Given the description of an element on the screen output the (x, y) to click on. 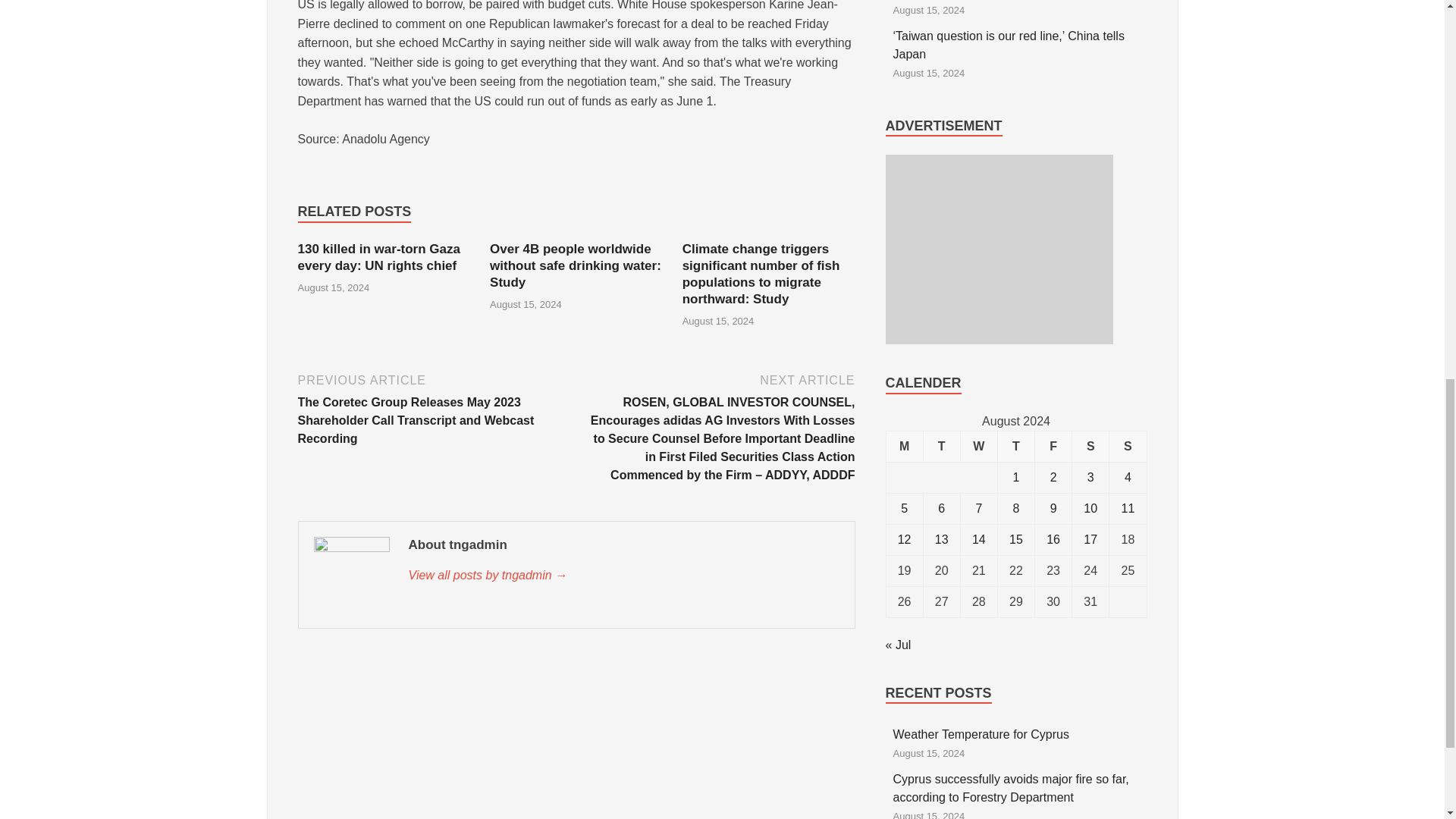
Friday (1053, 445)
130 killed in war-torn Gaza every day: UN rights chief (378, 256)
130 killed in war-torn Gaza every day: UN rights chief (378, 256)
Tuesday (941, 445)
Saturday (1090, 445)
Over 4B people worldwide without safe drinking water: Study (575, 265)
Thursday (1015, 445)
Monday (904, 445)
tngadmin (622, 575)
Wednesday (978, 445)
